Given the description of an element on the screen output the (x, y) to click on. 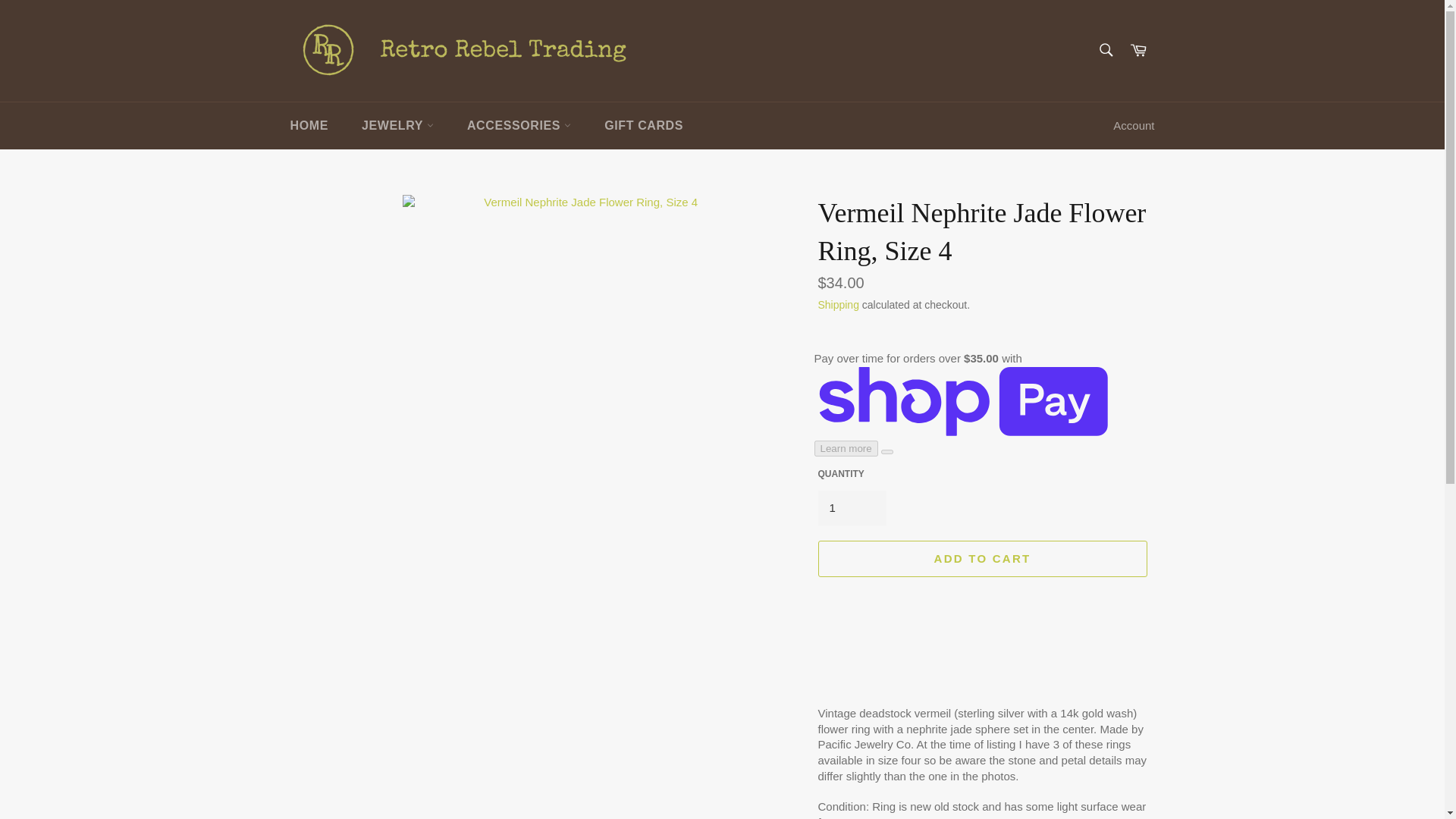
1 (850, 508)
Cart (1138, 50)
JEWELRY (397, 125)
HOME (308, 125)
Search (1104, 49)
